Given the description of an element on the screen output the (x, y) to click on. 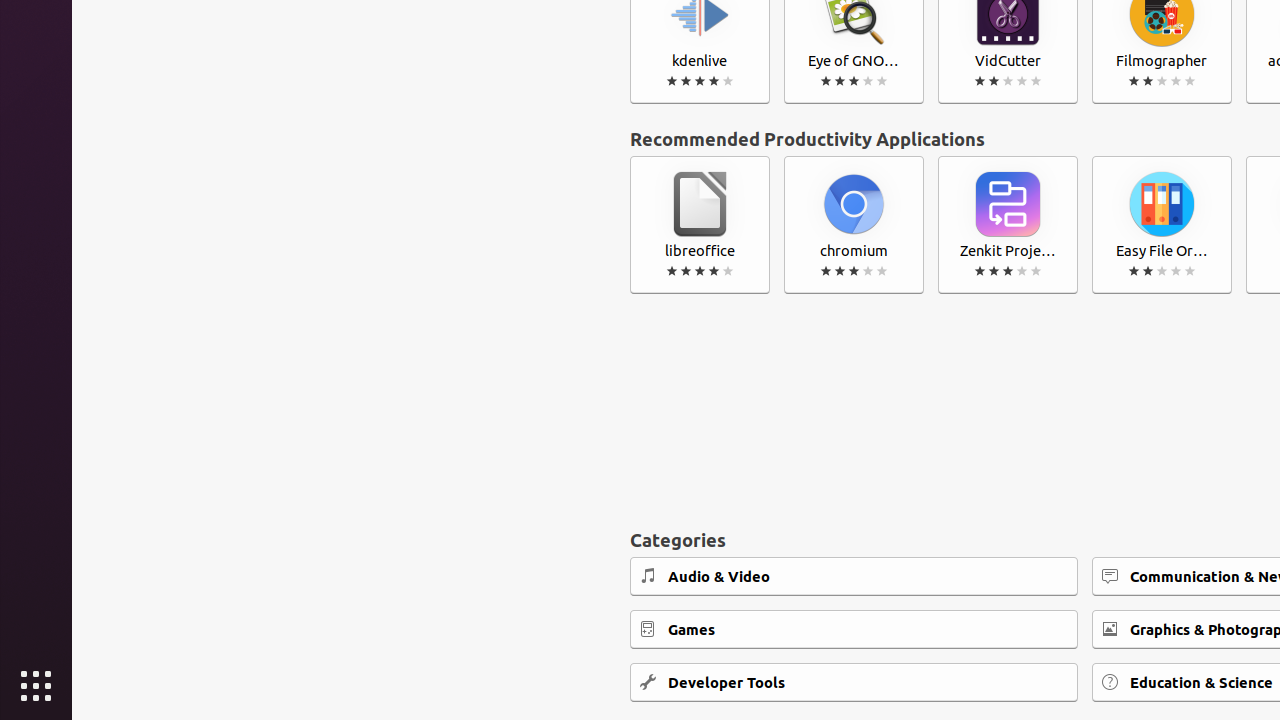
Easy File Organizer Element type: push-button (1162, 225)
